Given the description of an element on the screen output the (x, y) to click on. 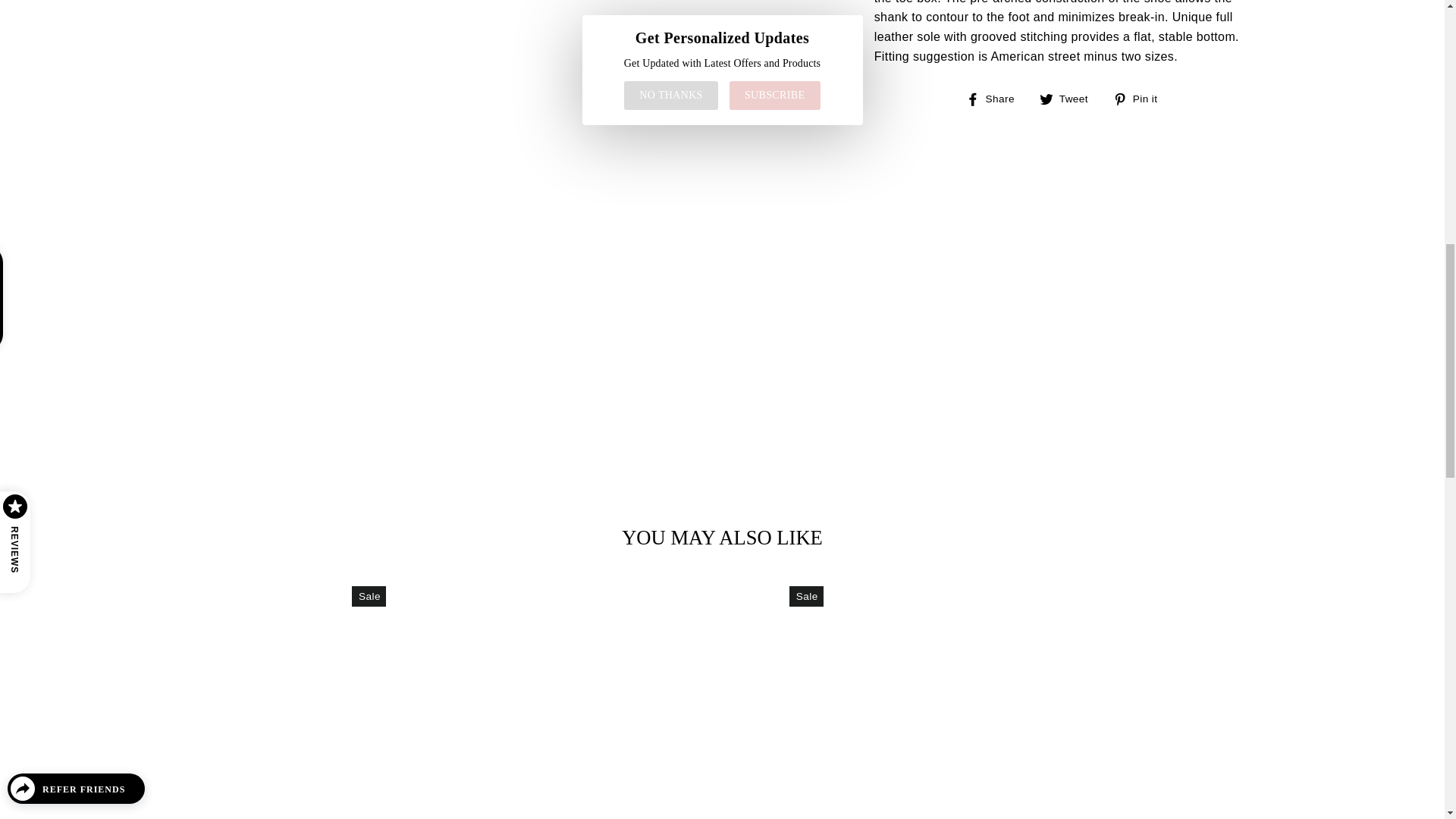
Pin on Pinterest (1141, 98)
Share on Facebook (996, 98)
Tweet on Twitter (1069, 98)
